Given the description of an element on the screen output the (x, y) to click on. 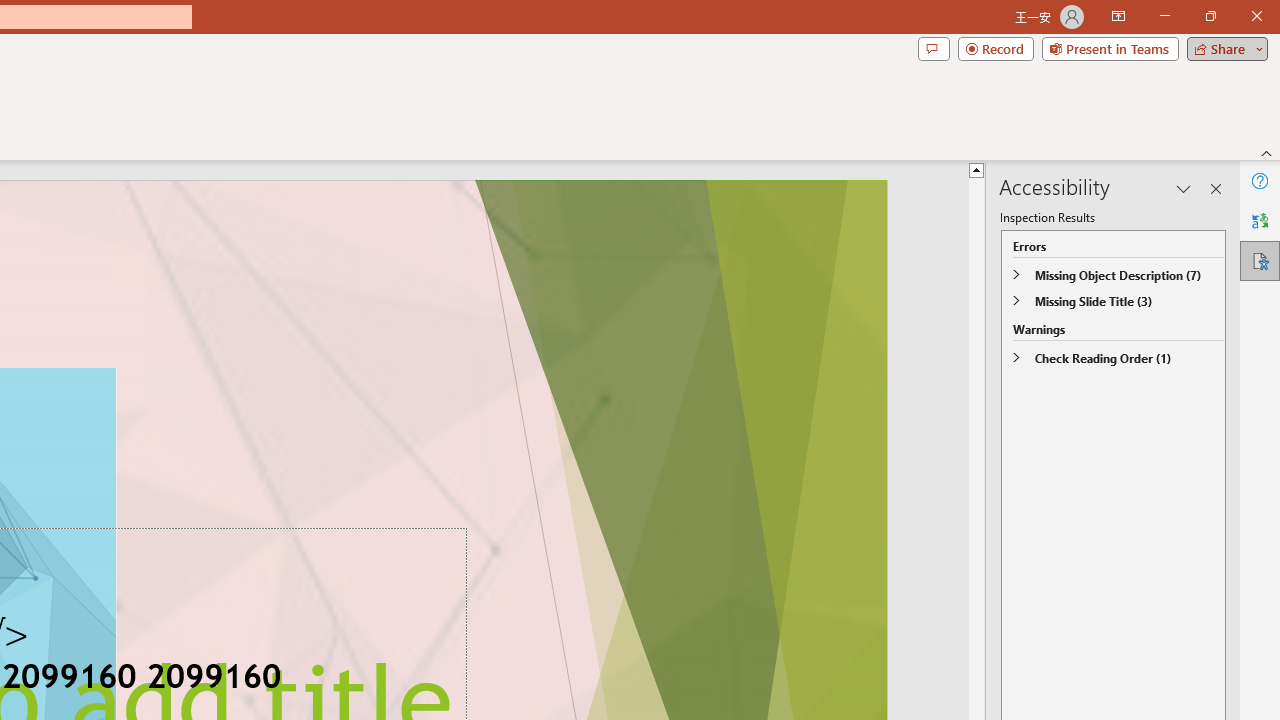
Task Pane Options (1183, 188)
